Given the description of an element on the screen output the (x, y) to click on. 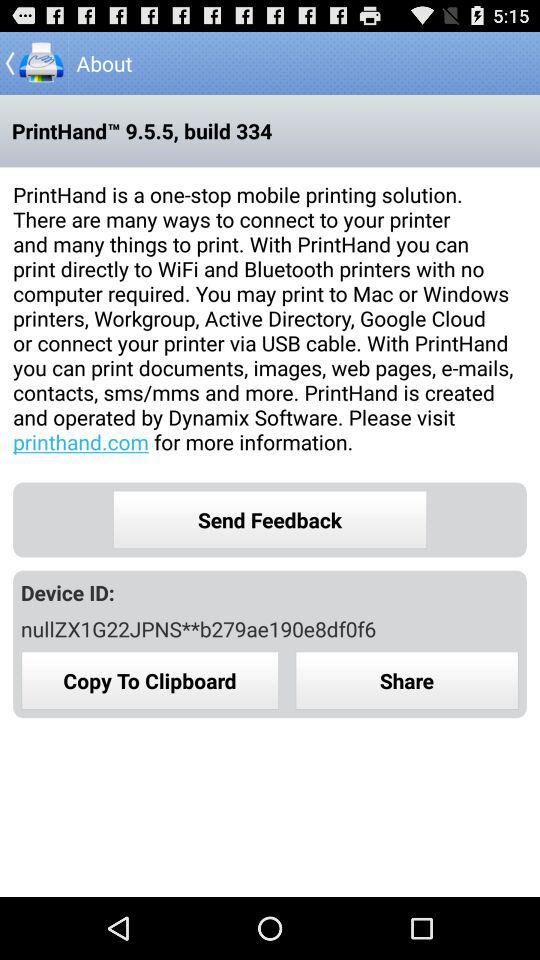
flip to copy to clipboard (150, 680)
